Given the description of an element on the screen output the (x, y) to click on. 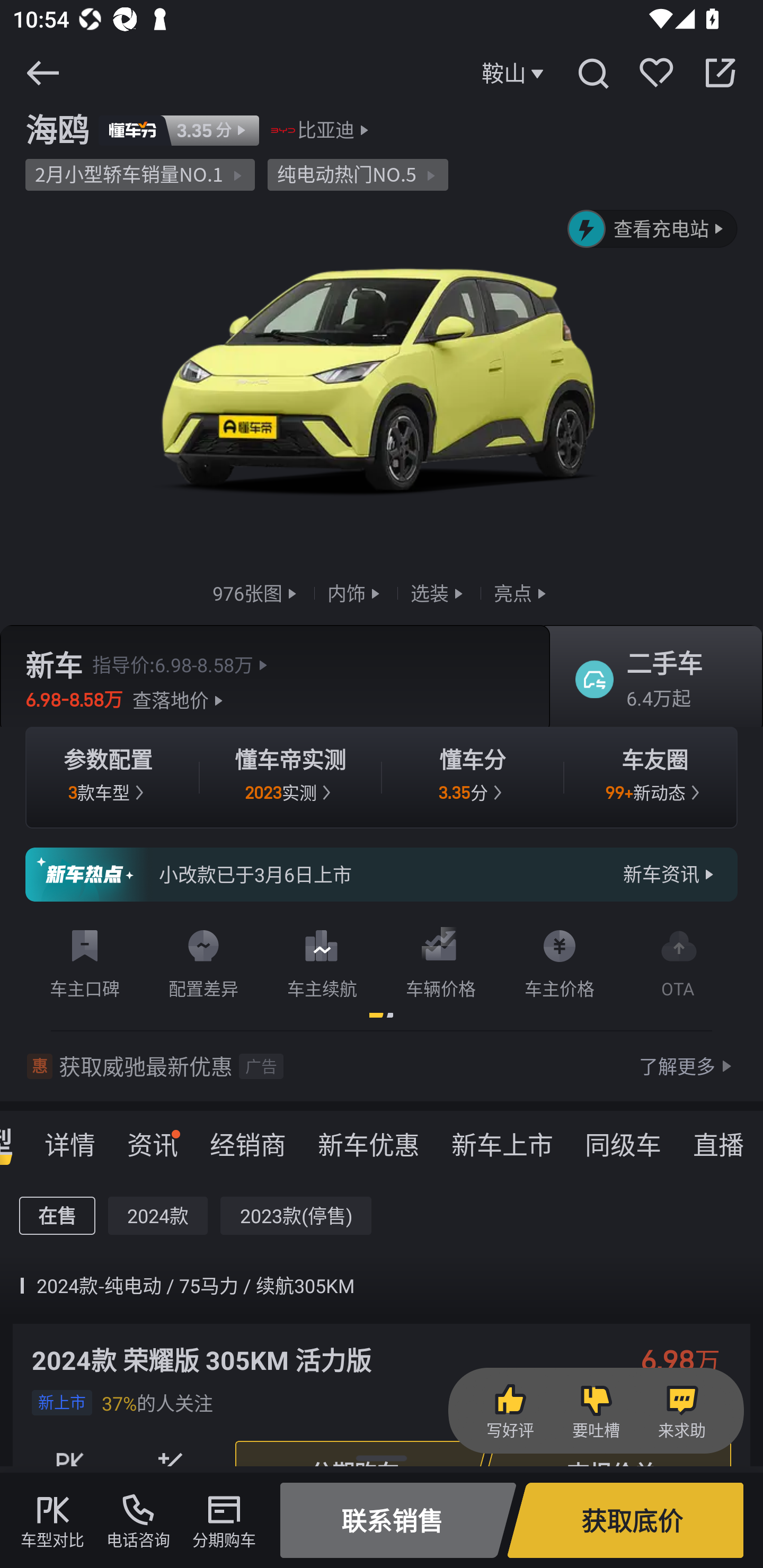
 (42, 72)
 (592, 72)
 (720, 72)
鞍山 (514, 73)
比亚迪 (325, 130)
2月小型轿车销量NO.1  (139, 174)
纯电动热门NO.5  (357, 174)
查看充电站  (652, 228)
976张图 (256, 592)
内饰 (355, 592)
选装 (438, 592)
亮点 (521, 592)
二手车 6.4万起 (650, 679)
指导价:6.98-8.58万 (182, 664)
查落地价 (180, 699)
参数配置 3 款车型  (107, 777)
懂车帝实测 2023 实测  (290, 777)
懂车分 3.35 分  (472, 777)
车友圈 99+ 新动态  (654, 777)
小改款已于3月6日上市 新车资讯 (381, 874)
车主口碑 (84, 960)
配置差异 (203, 960)
车主续航 (321, 960)
车辆价格 (440, 960)
车主价格 (559, 960)
OTA (677, 960)
惠 获取威驰最新优惠 广告 了解更多  (381, 1065)
详情 (69, 1138)
资讯 (152, 1138)
经销商 (247, 1138)
新车优惠 (368, 1138)
新车上市 (502, 1138)
同级车 (623, 1138)
直播 (717, 1138)
在售 (57, 1215)
2024款 (157, 1215)
2023款(停售) (295, 1215)
写好评 (510, 1410)
要吐槽 (595, 1410)
来求助 (681, 1410)
车型对比 (52, 1520)
电话咨询 (138, 1520)
分期购车 (224, 1520)
联系销售 (398, 1519)
获取底价 (625, 1519)
